Given the description of an element on the screen output the (x, y) to click on. 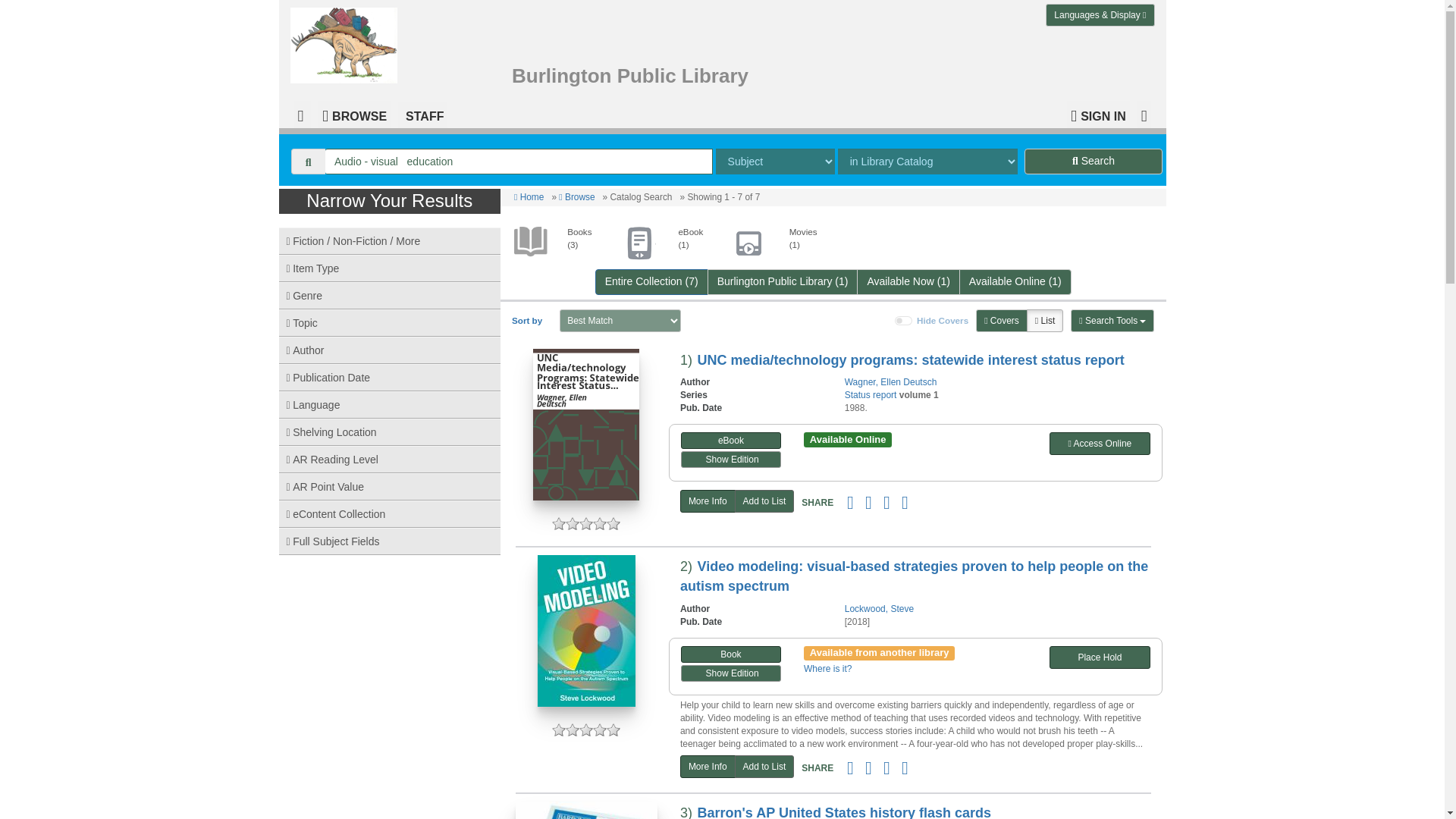
Audio - visual   education (518, 161)
Browse the Catalog (354, 113)
Login (1098, 113)
The method of searching. (775, 161)
BROWSE (354, 113)
 Search (1093, 161)
Return to Catalog Home (346, 41)
on (903, 320)
Home (528, 196)
